Given the description of an element on the screen output the (x, y) to click on. 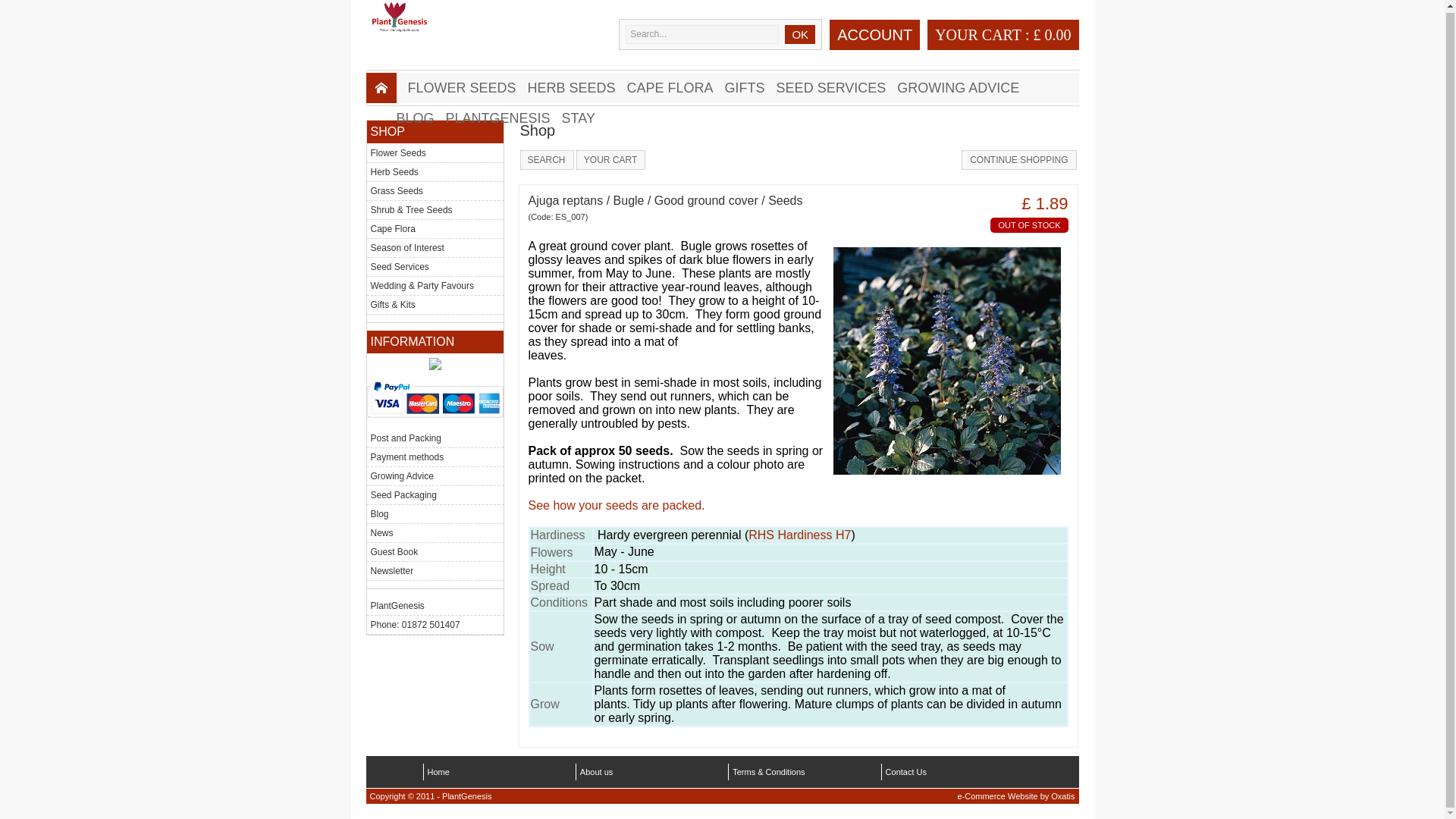
OK (799, 34)
ACCOUNT (874, 36)
Search... (702, 34)
YOUR CART (978, 34)
Search... (702, 34)
HERB SEEDS (577, 87)
CAPE FLORA (676, 87)
FLOWER SEEDS (467, 87)
GIFTS (750, 87)
SEED SERVICES (837, 87)
